Given the description of an element on the screen output the (x, y) to click on. 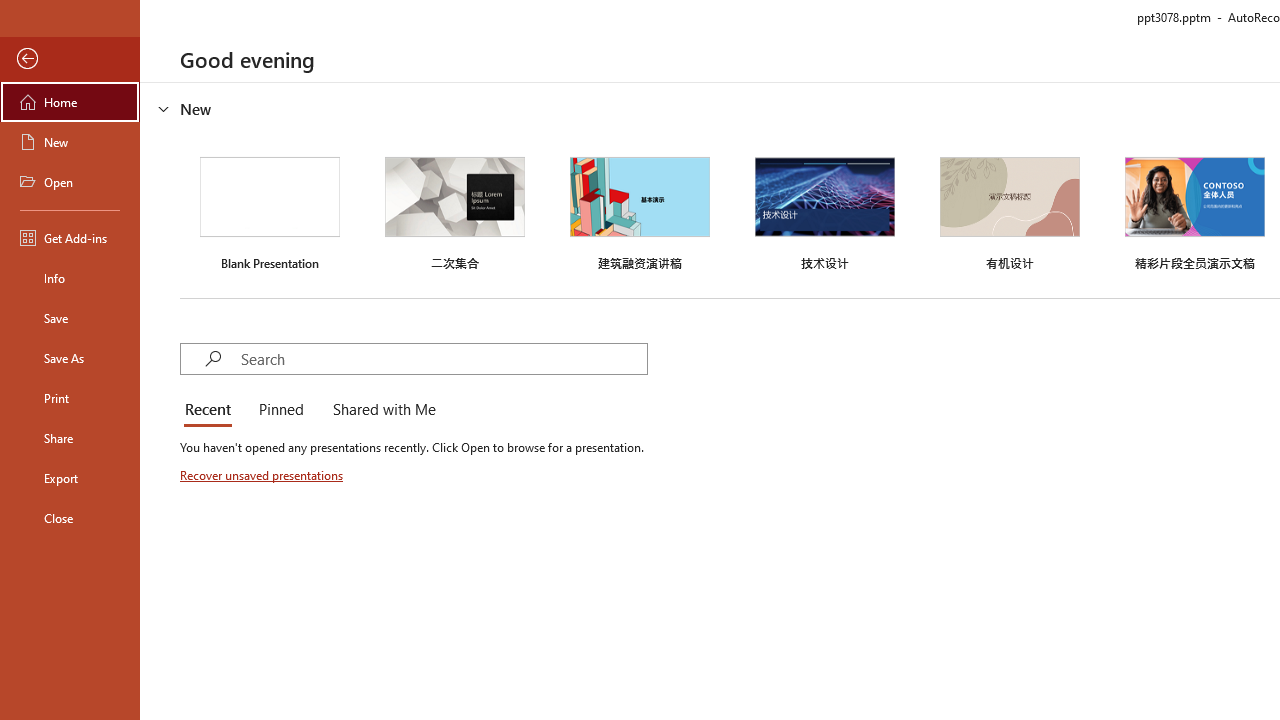
Info (69, 277)
Shared with Me (379, 410)
Blank Presentation (269, 211)
Export (69, 477)
Hide or show region (164, 108)
